Given the description of an element on the screen output the (x, y) to click on. 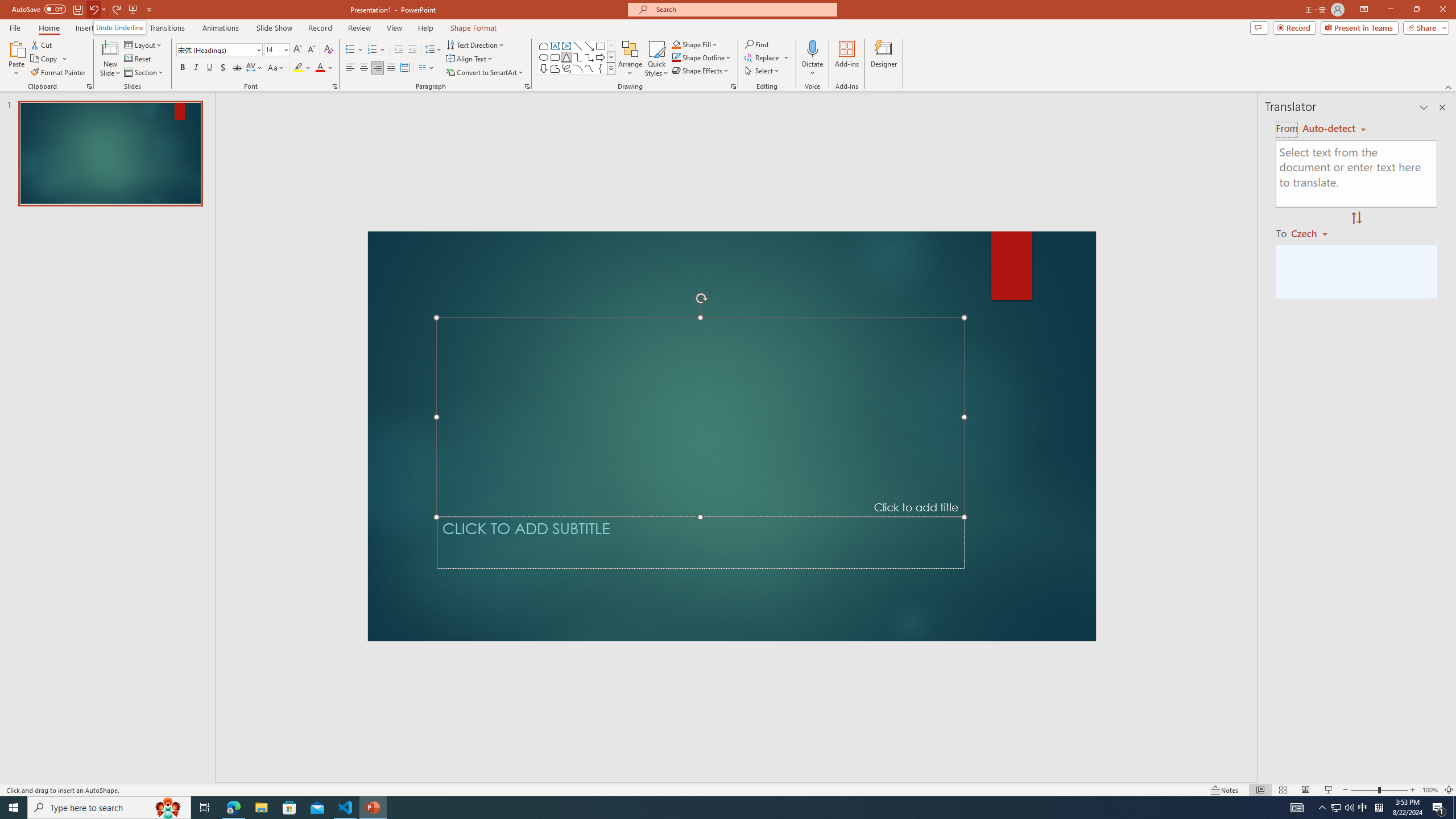
Zoom 100% (1430, 790)
